Given the description of an element on the screen output the (x, y) to click on. 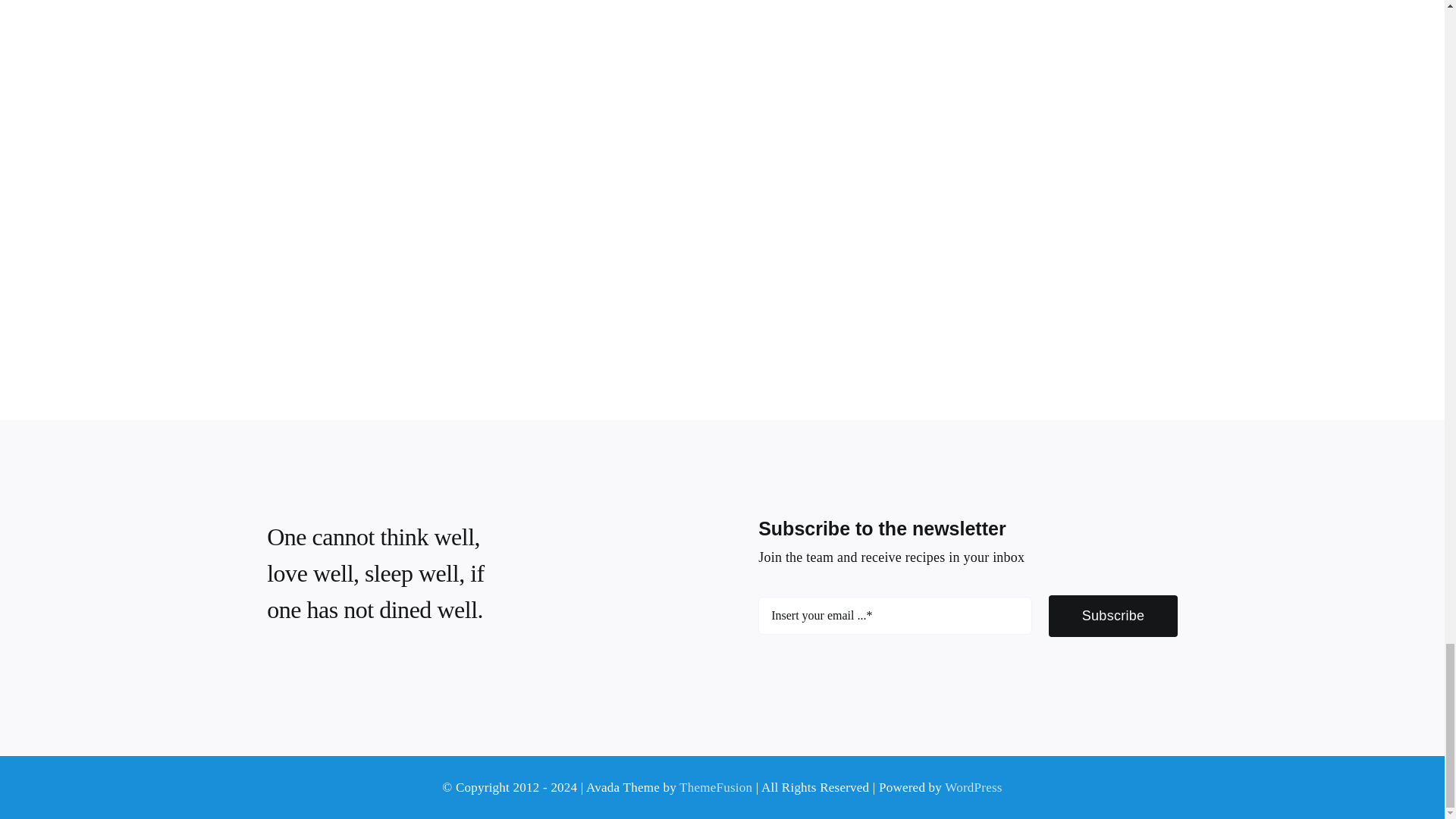
Subscribe (967, 624)
